Given the description of an element on the screen output the (x, y) to click on. 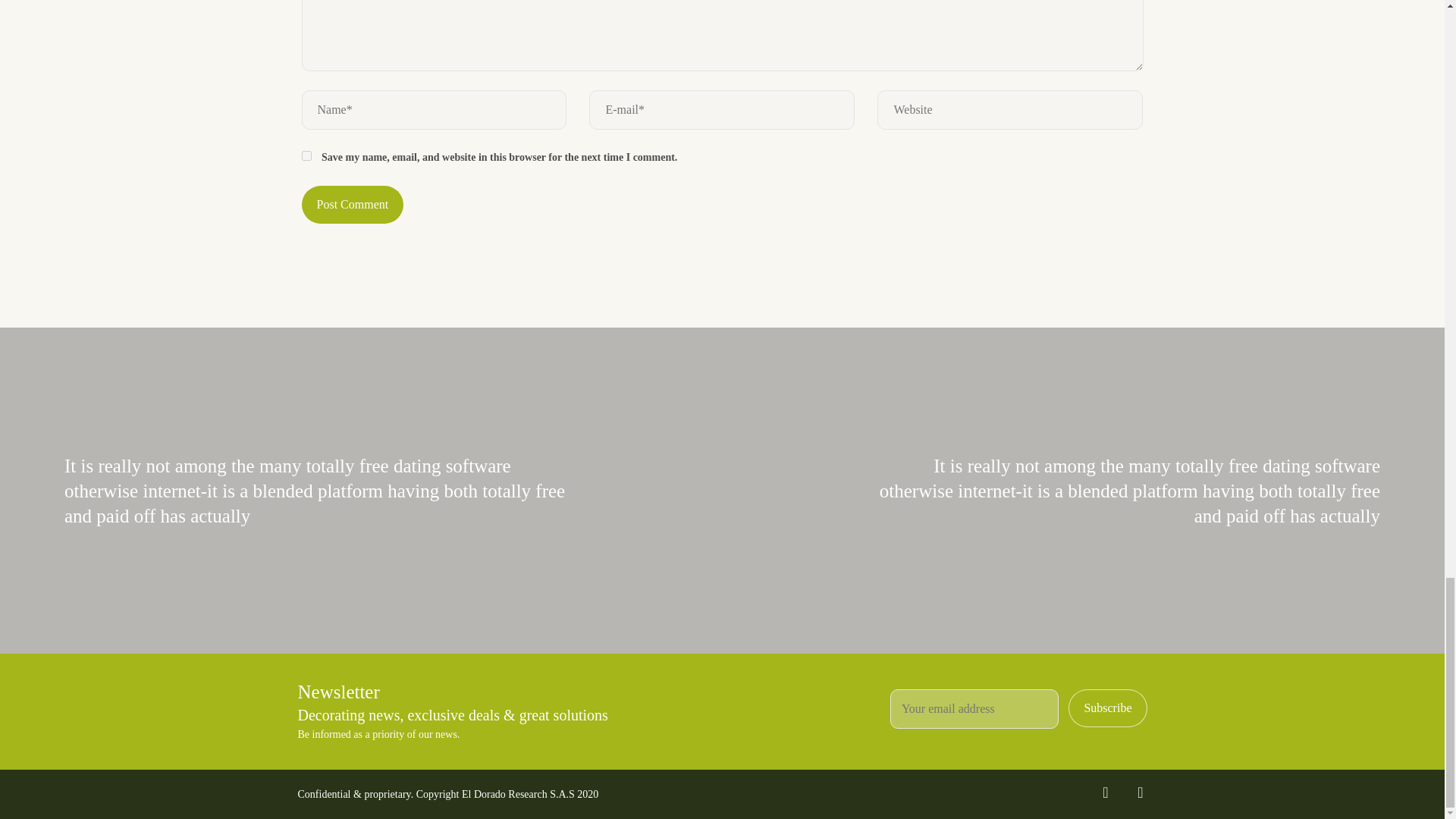
yes (306, 155)
Post Comment (352, 204)
Subscribe (1107, 708)
Post Comment (352, 204)
Subscribe (1107, 708)
